Given the description of an element on the screen output the (x, y) to click on. 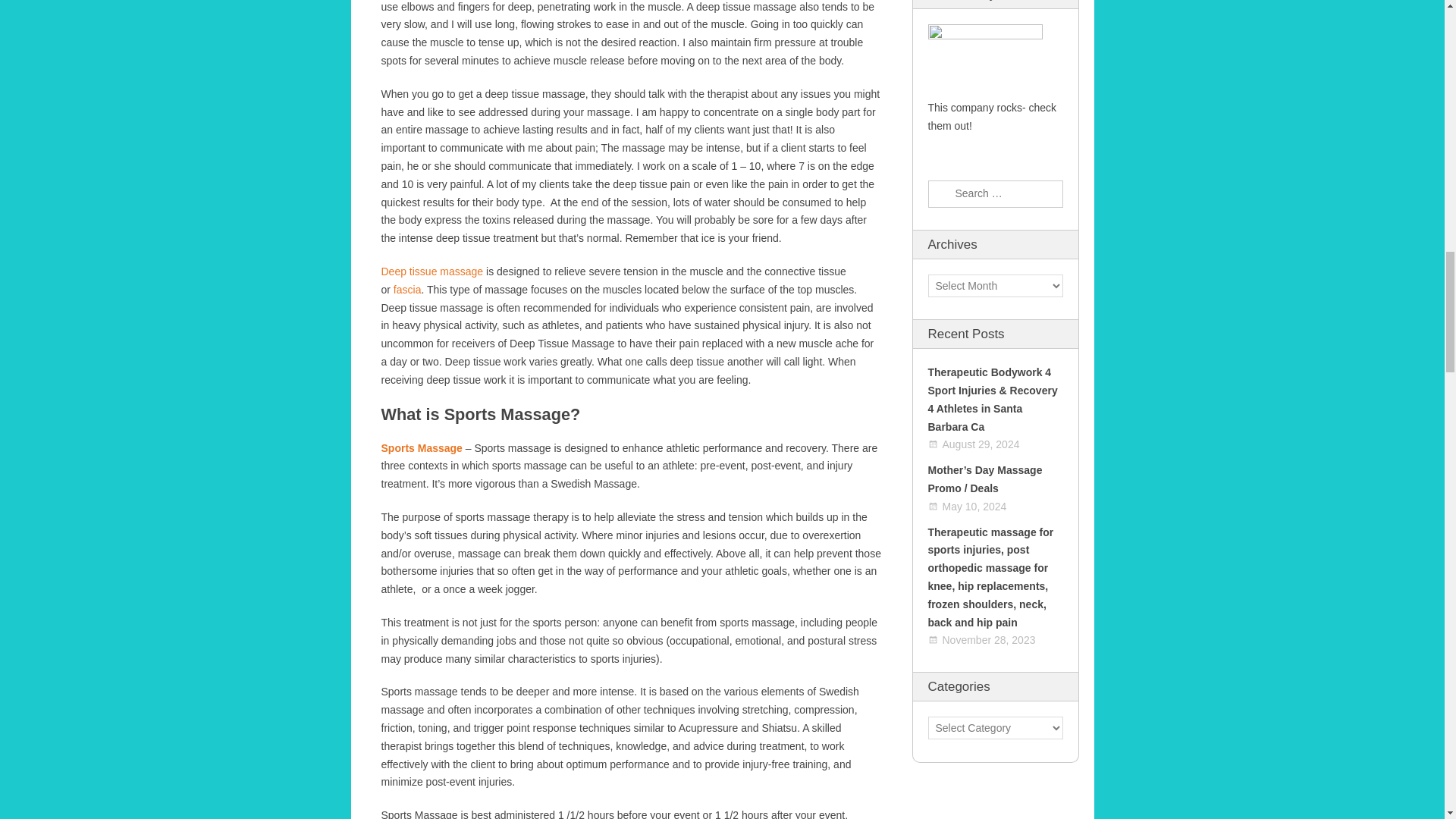
Sports Massage (420, 448)
Deep tissue massage (431, 271)
fascia (407, 289)
What is Sports Massage (420, 448)
What is Deep Tissue Massage (431, 271)
Fascia (407, 289)
